Given the description of an element on the screen output the (x, y) to click on. 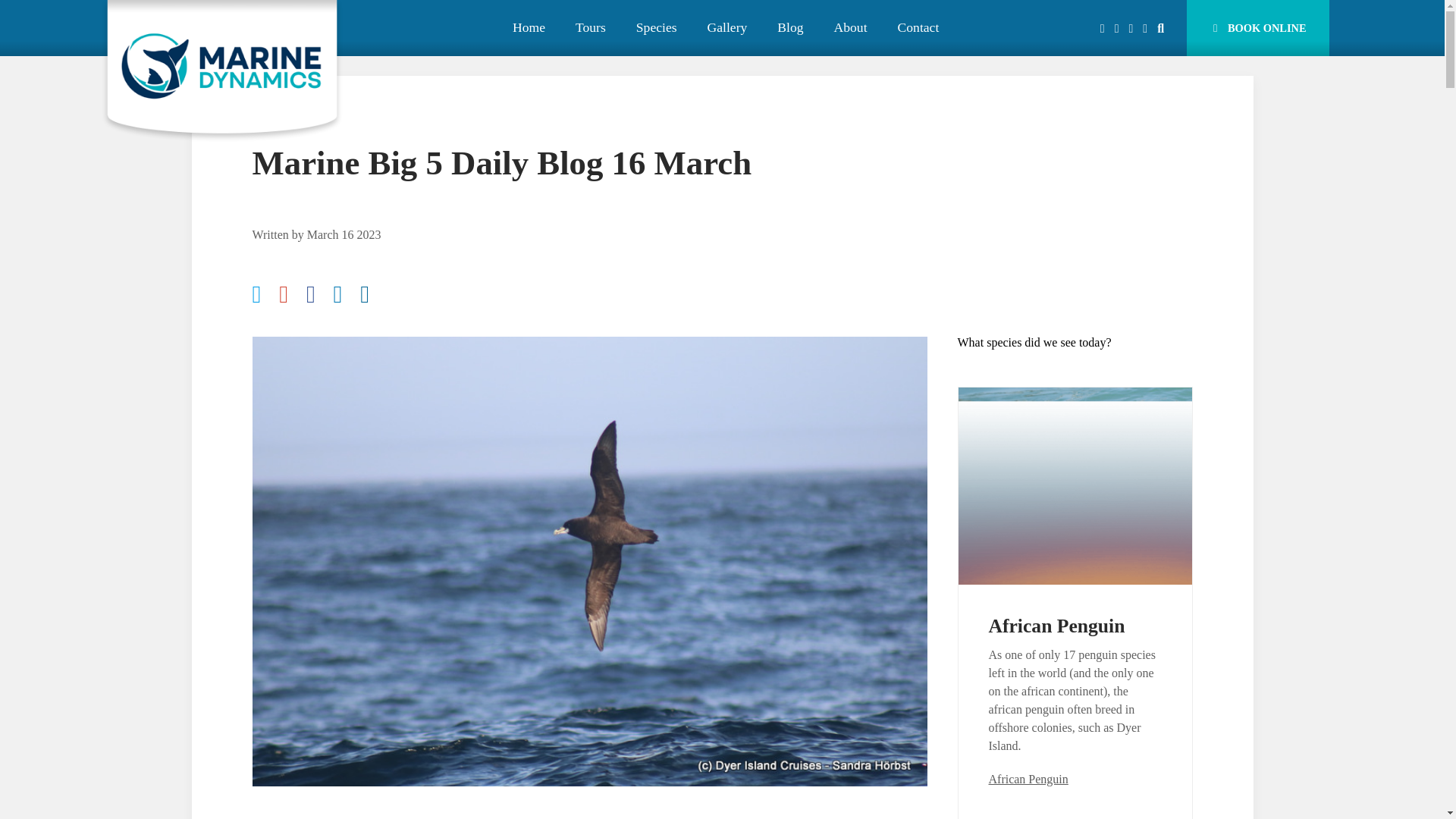
Meet the incredible wildlife of Gansbaai, South Africa (236, 18)
Blog (656, 28)
Tours (790, 28)
Contact (590, 28)
African Penguin (918, 28)
Learn about our various Marine Big 5 tours (1056, 626)
Return to the homepage (590, 28)
BOOK ONLINE (236, 18)
Gallery (1256, 28)
